Given the description of an element on the screen output the (x, y) to click on. 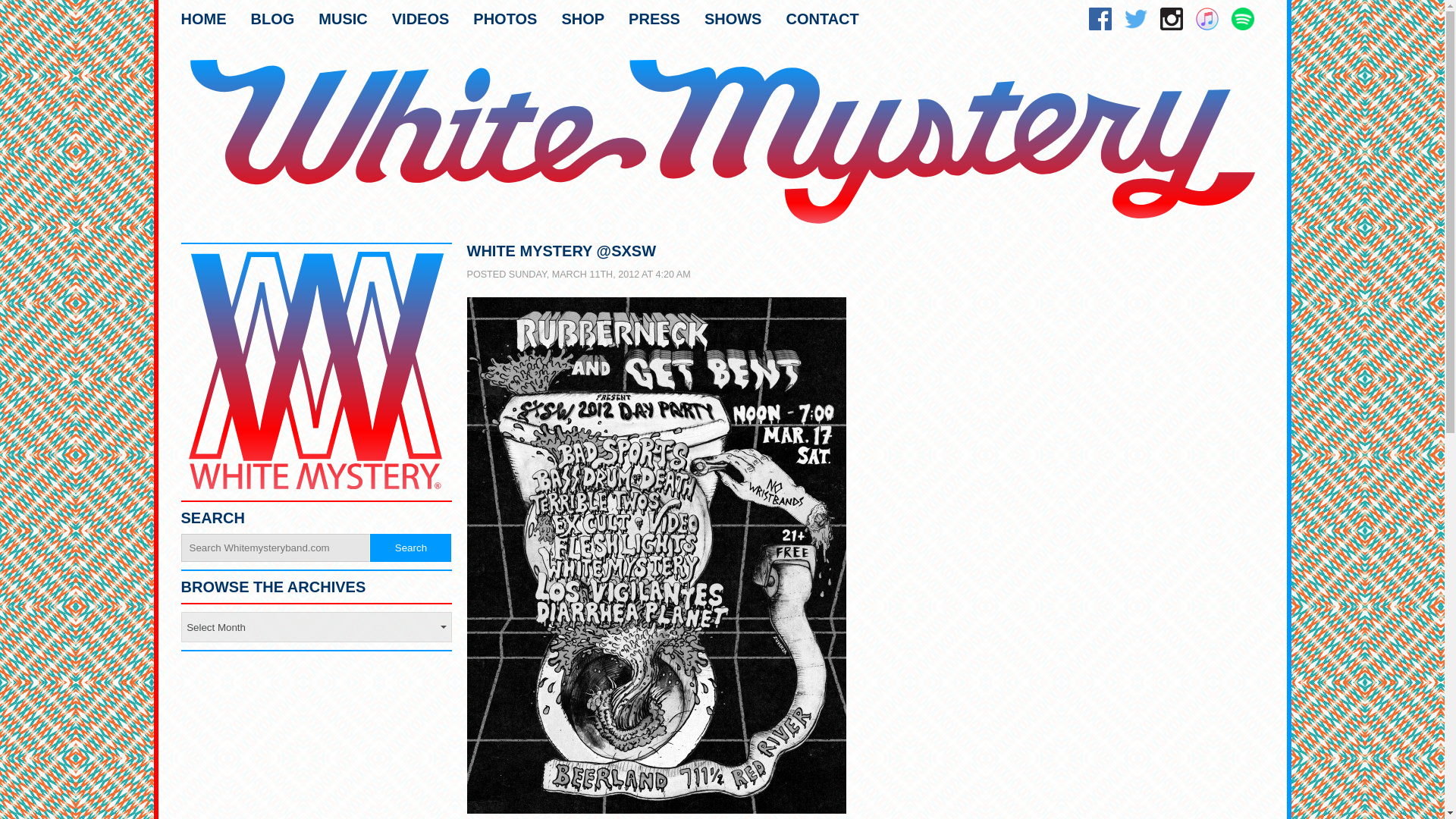
PRESS (653, 21)
HOME (202, 21)
SHOWS (732, 21)
BLOG (272, 21)
CONTACT (822, 21)
VIDEOS (420, 21)
SHOP (582, 21)
Search (410, 547)
Search (410, 547)
MUSIC (342, 21)
PHOTOS (505, 21)
